Given the description of an element on the screen output the (x, y) to click on. 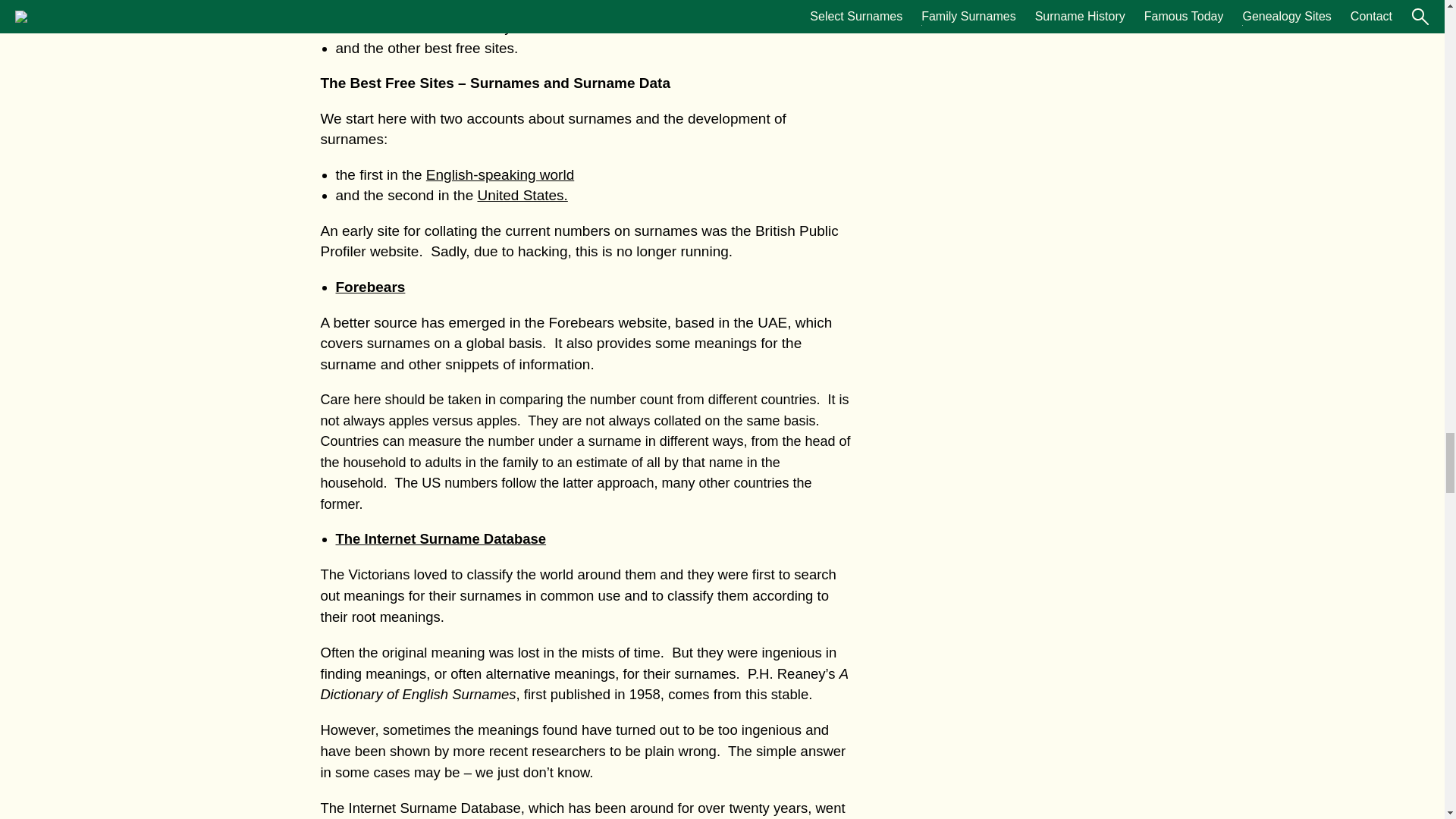
Forebears (369, 286)
English-speaking world (499, 174)
The Internet Surname Database (440, 538)
United States. (522, 195)
